Given the description of an element on the screen output the (x, y) to click on. 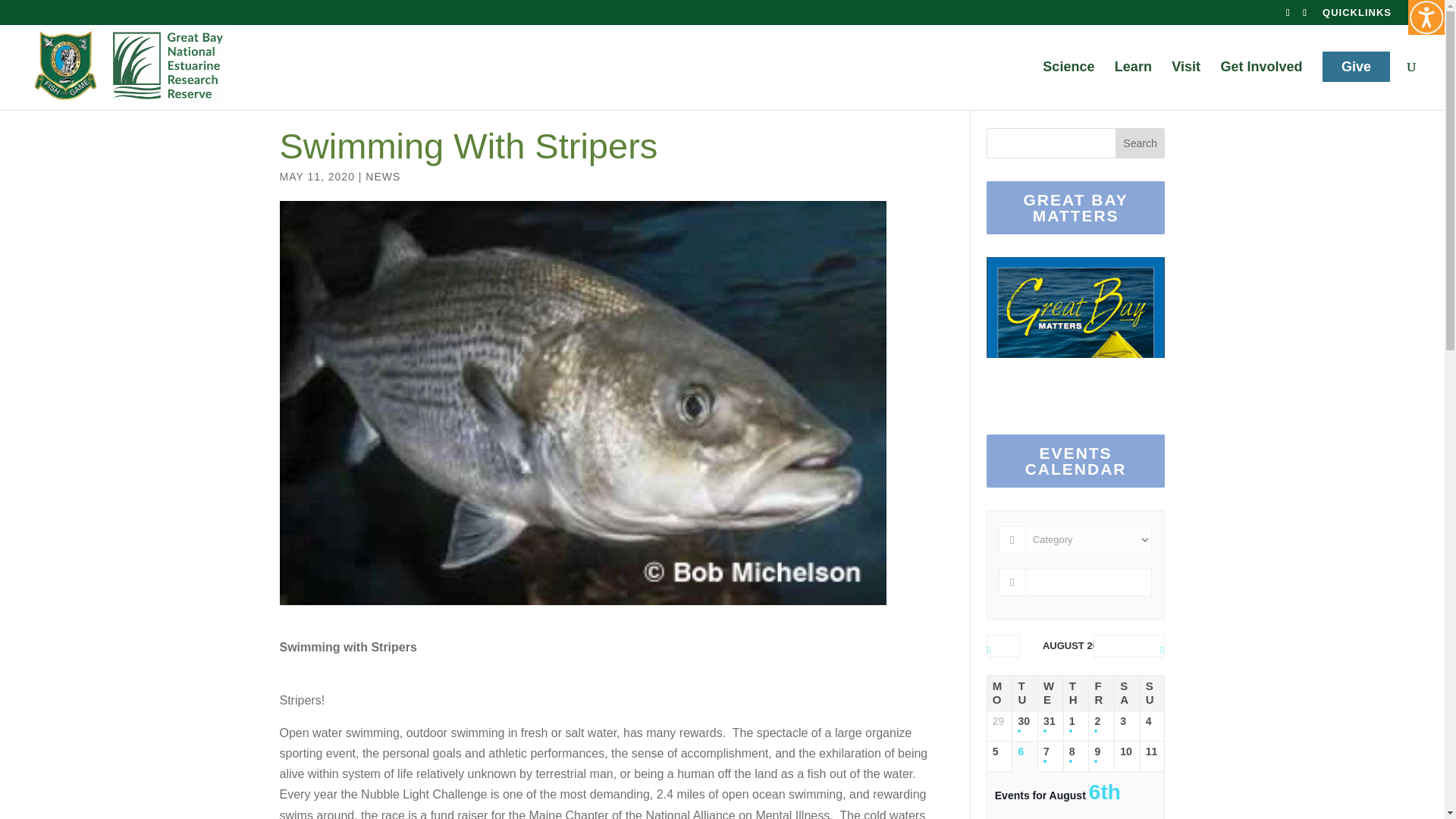
Search (1140, 142)
Give (1356, 66)
Science (1068, 85)
Subscribe and stay in touch with the latest news and events (1073, 390)
JULY (1003, 649)
NEWS (382, 176)
QUICKLINKS (1356, 16)
Get Involved (1260, 85)
Search (1140, 142)
